Given the description of an element on the screen output the (x, y) to click on. 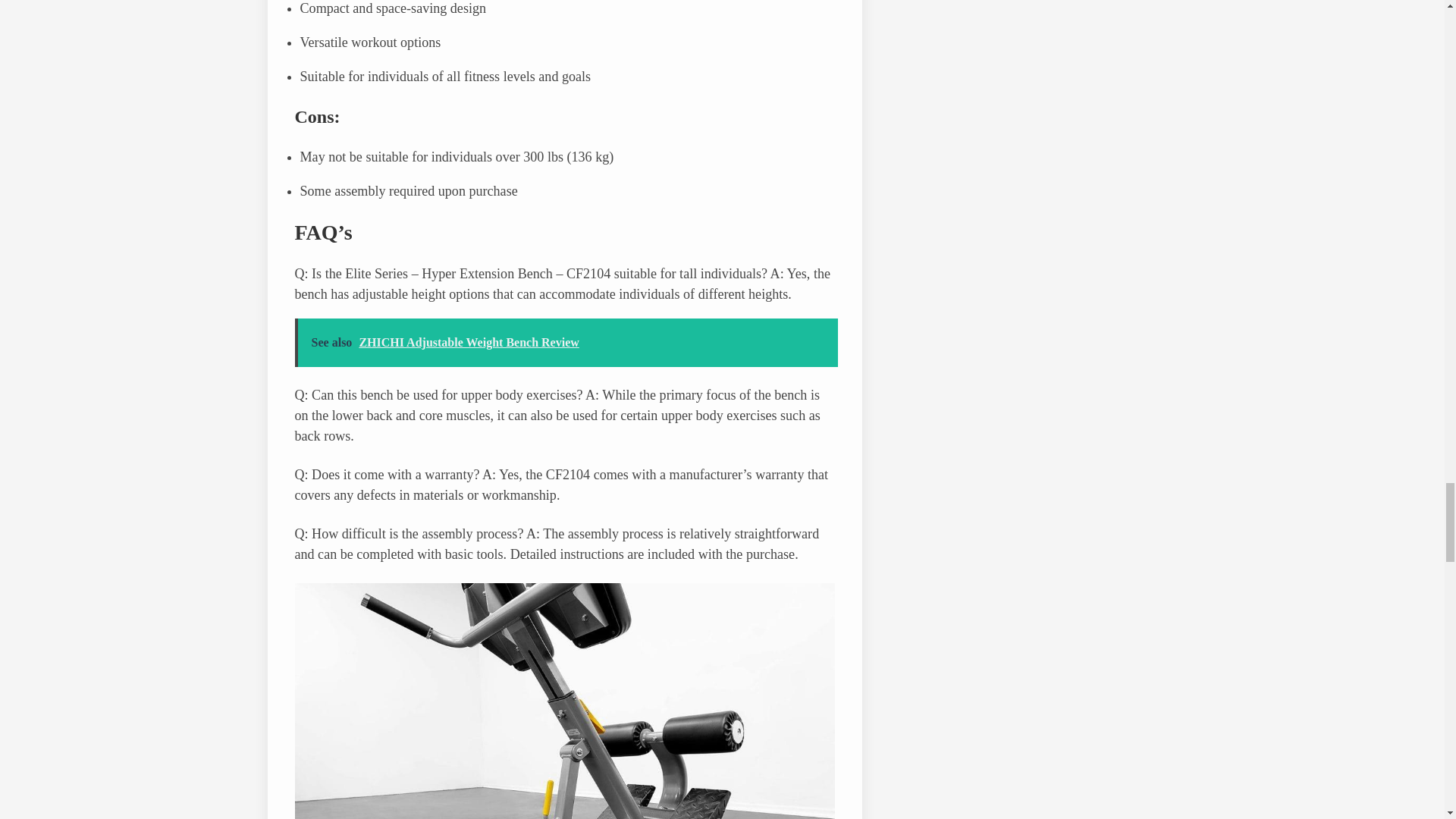
Elite Series - Hyper Extension Bench - CF2104 (564, 701)
